Given the description of an element on the screen output the (x, y) to click on. 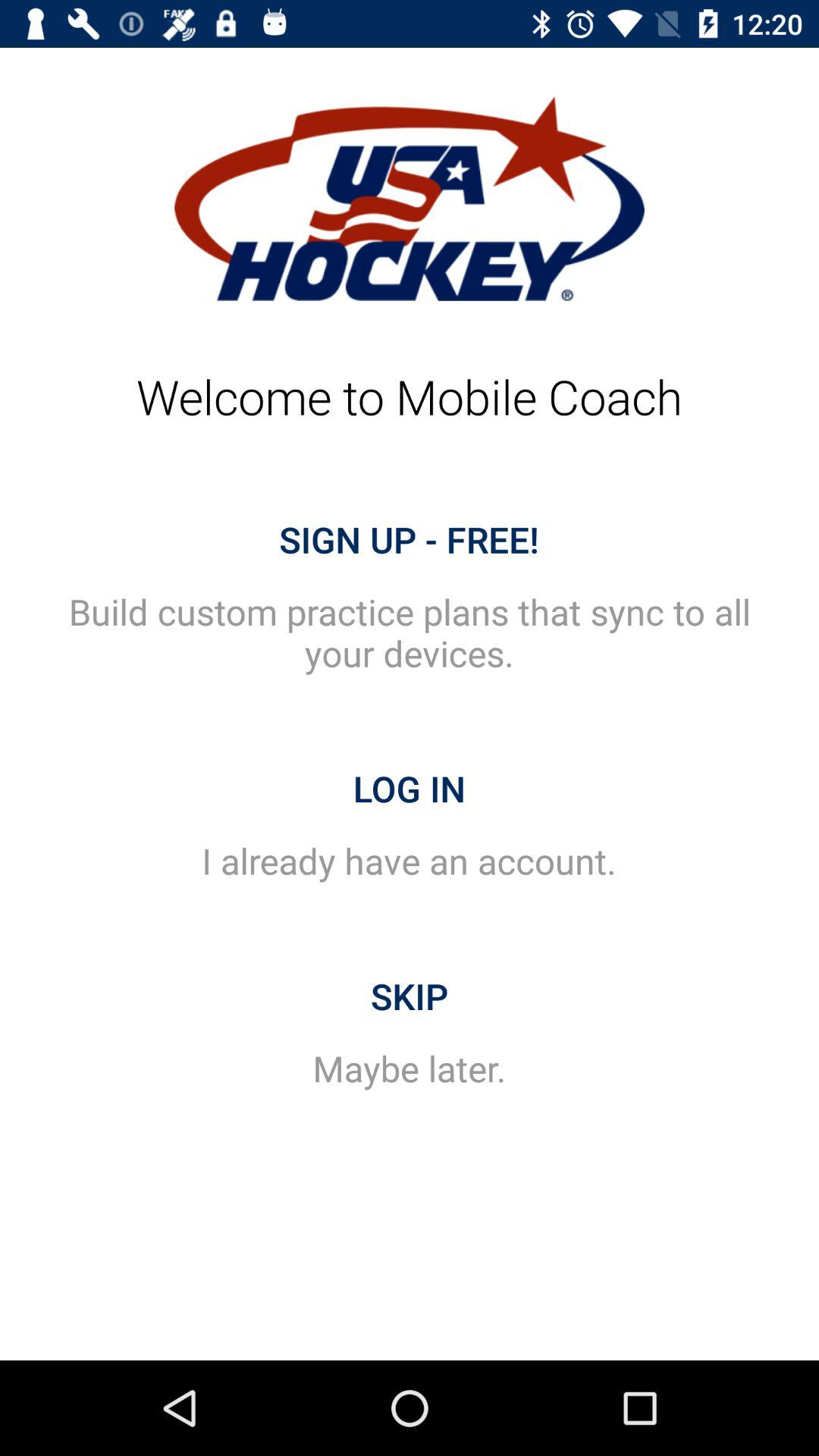
flip until sign up - free! icon (409, 539)
